Given the description of an element on the screen output the (x, y) to click on. 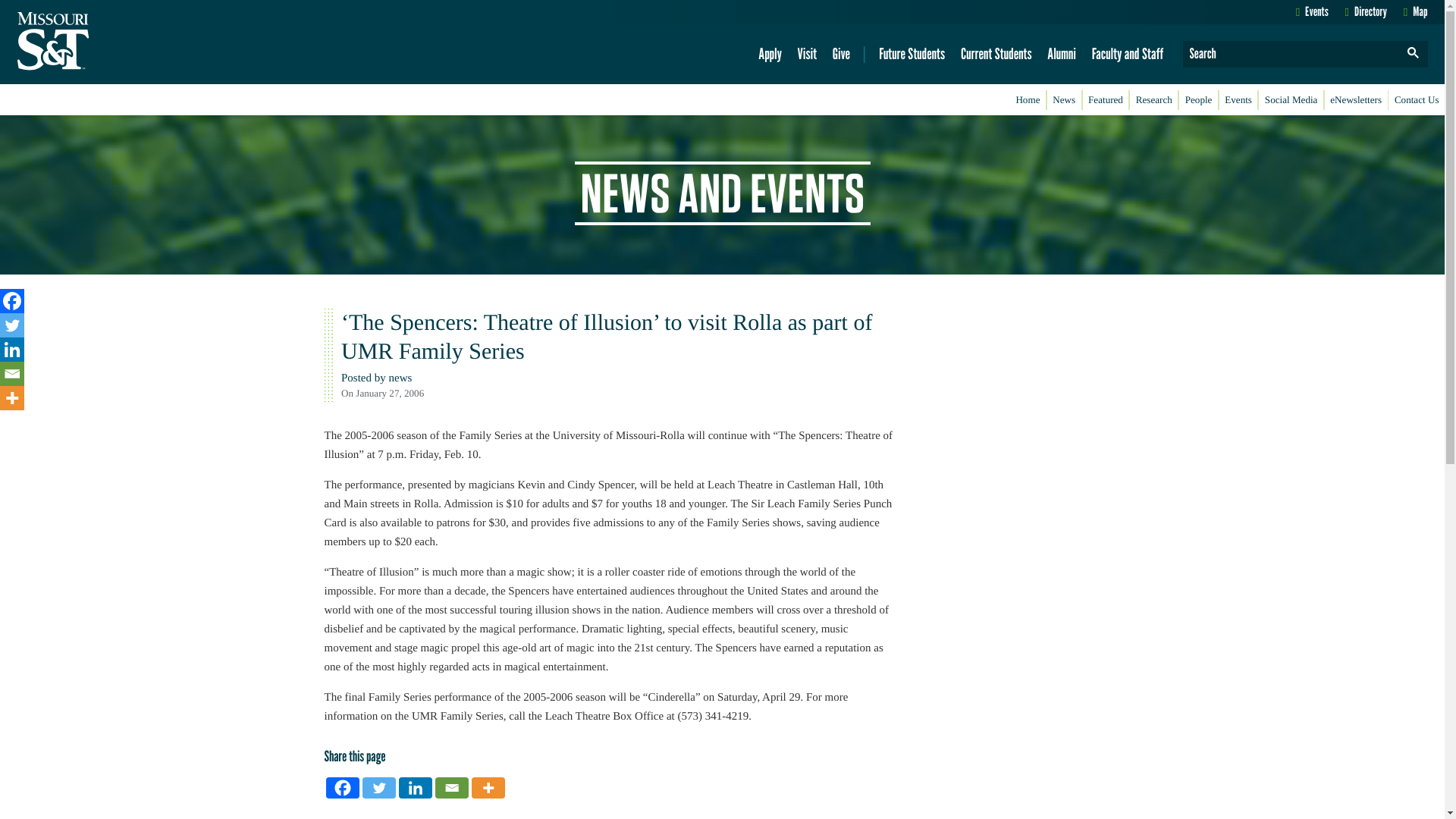
Social Media (1291, 99)
Email (12, 373)
Featured (1106, 99)
Map (1415, 11)
Events (1311, 11)
Faculty and Staff (1127, 53)
Twitter (379, 787)
Twitter (12, 324)
People (1198, 99)
Email (451, 787)
